Given the description of an element on the screen output the (x, y) to click on. 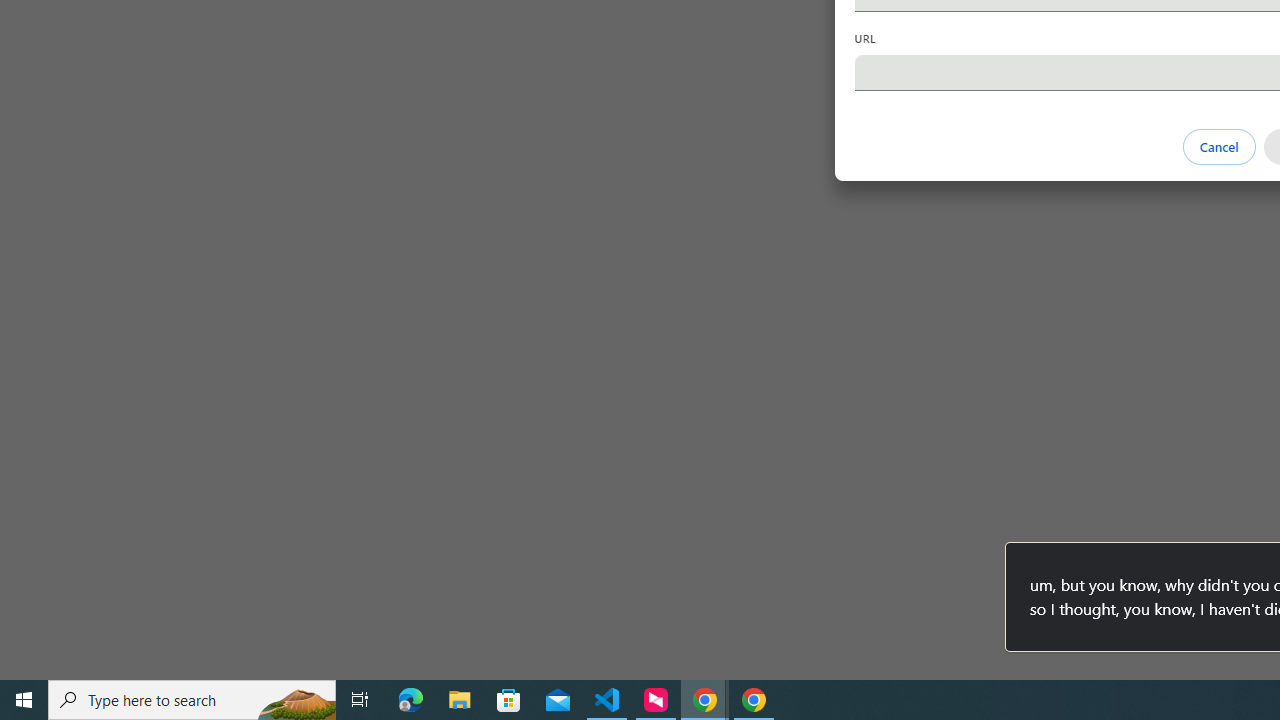
Cancel (1218, 146)
